Given the description of an element on the screen output the (x, y) to click on. 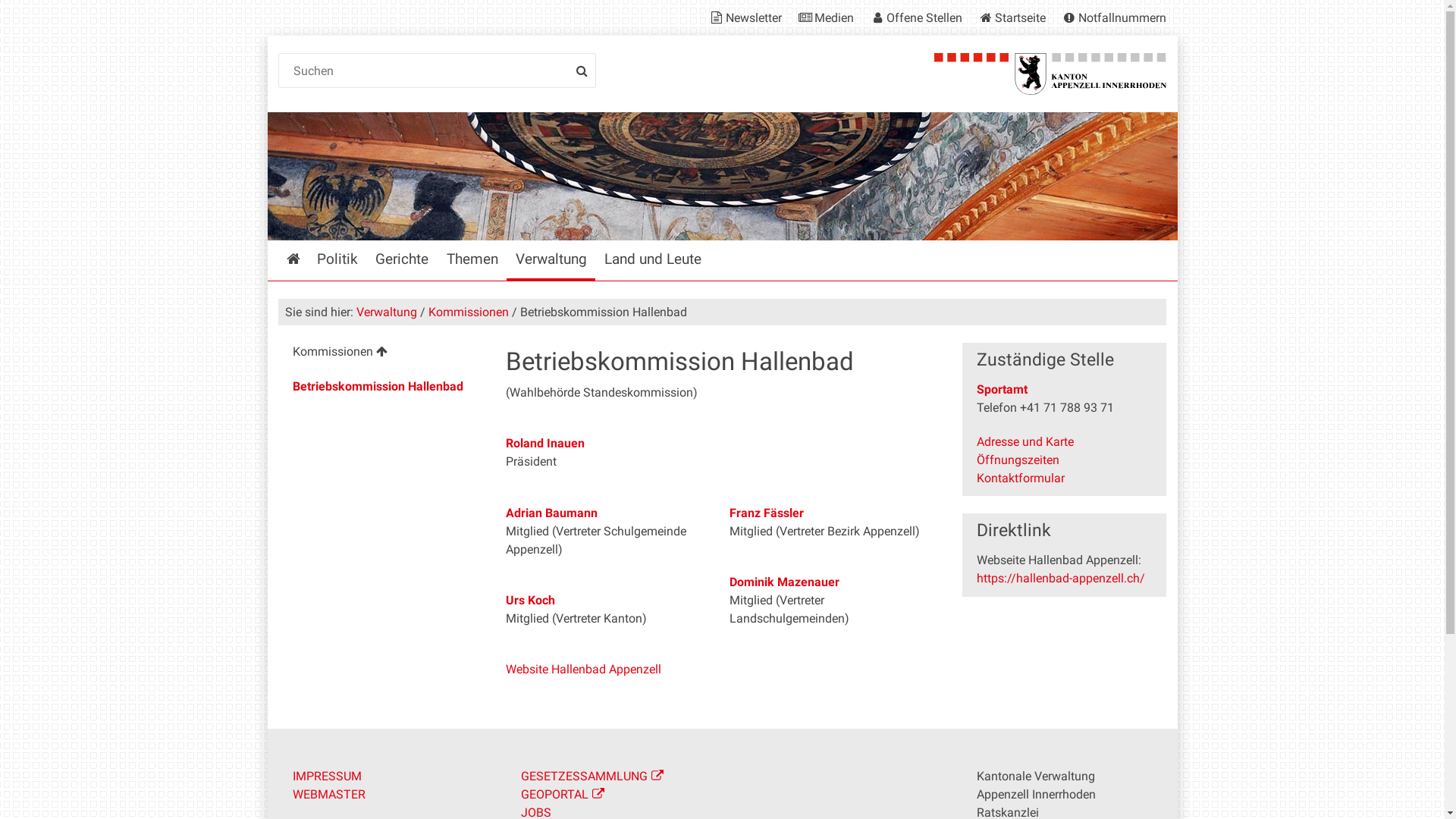
Notfallnummern Element type: text (1110, 17)
Urs Koch Element type: text (530, 600)
Kommissionen Element type: text (468, 311)
Kontaktformular Element type: text (1020, 477)
Suchen Element type: hover (437, 70)
Verwaltung Element type: text (550, 260)
Betriebskommission Hallenbad Element type: text (380, 386)
GESETZESSAMMLUNG Element type: text (591, 775)
Newsletter Element type: text (748, 17)
Gerichte Element type: text (402, 260)
Medien Element type: text (824, 17)
https://hallenbad-appenzell.ch/ Element type: text (1060, 578)
Startseite Element type: text (293, 260)
Politik Element type: text (337, 260)
Offene Stellen Element type: text (914, 17)
WEBMASTER Element type: text (328, 794)
Website Hallenbad Appenzell Element type: text (583, 669)
Themen Element type: text (471, 260)
Sportamt Element type: text (1001, 389)
IMPRESSUM Element type: text (326, 775)
Startseite Element type: text (1011, 17)
Land und Leute Element type: text (652, 260)
Adresse und Karte Element type: text (1024, 441)
Kommissionen Element type: text (380, 353)
Dominik Mazenauer Element type: text (784, 581)
Adrian Baumann Element type: text (551, 512)
Verwaltung Element type: text (386, 311)
Roland Inauen Element type: text (544, 443)
